Given the description of an element on the screen output the (x, y) to click on. 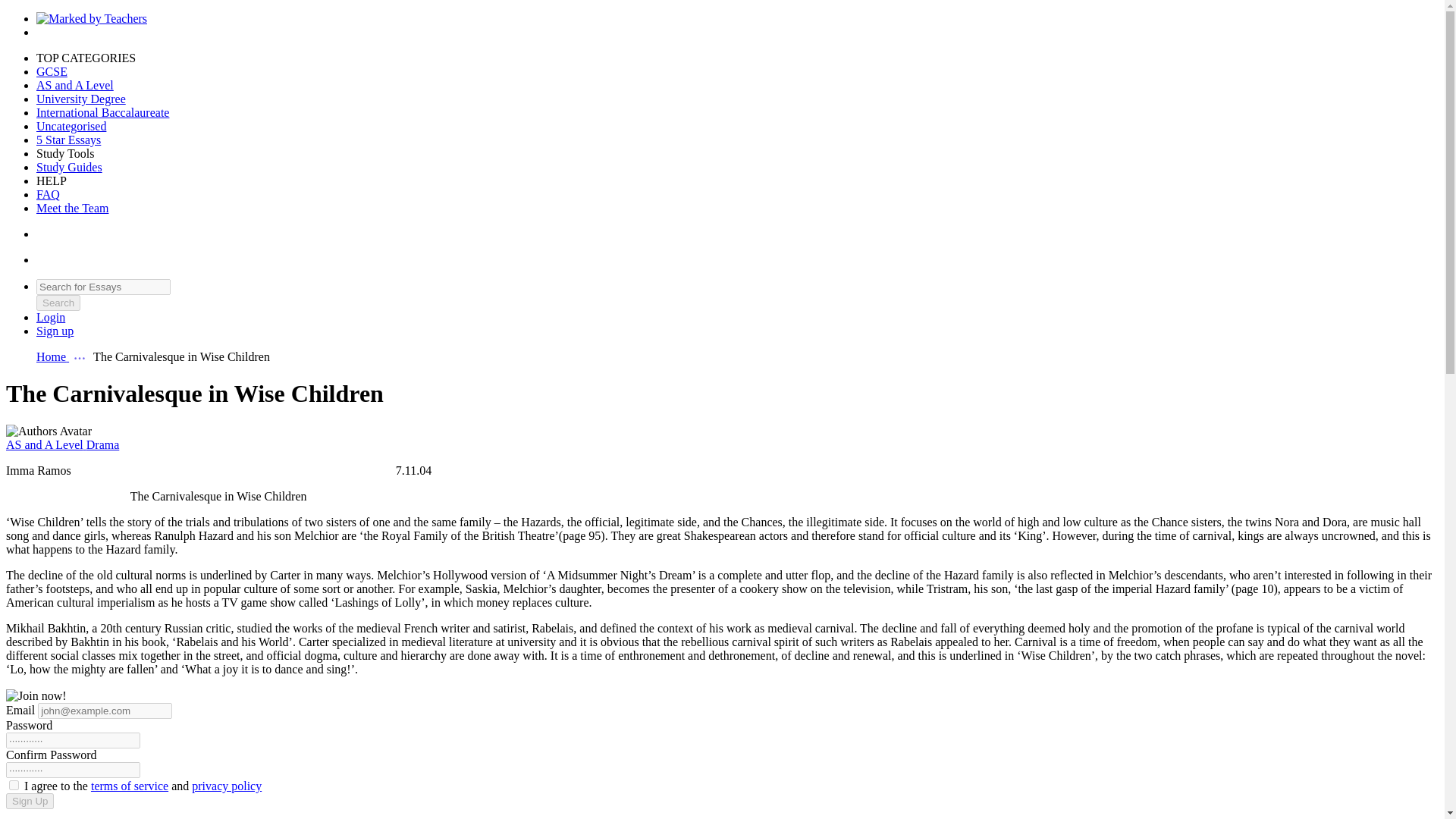
Uncategorised (71, 125)
GCSE (51, 71)
FAQ (47, 194)
Study Guides (68, 166)
Login (50, 317)
Search (58, 302)
International Baccalaureate (102, 112)
GCSE (51, 71)
on (13, 785)
privacy policy (227, 785)
